Given the description of an element on the screen output the (x, y) to click on. 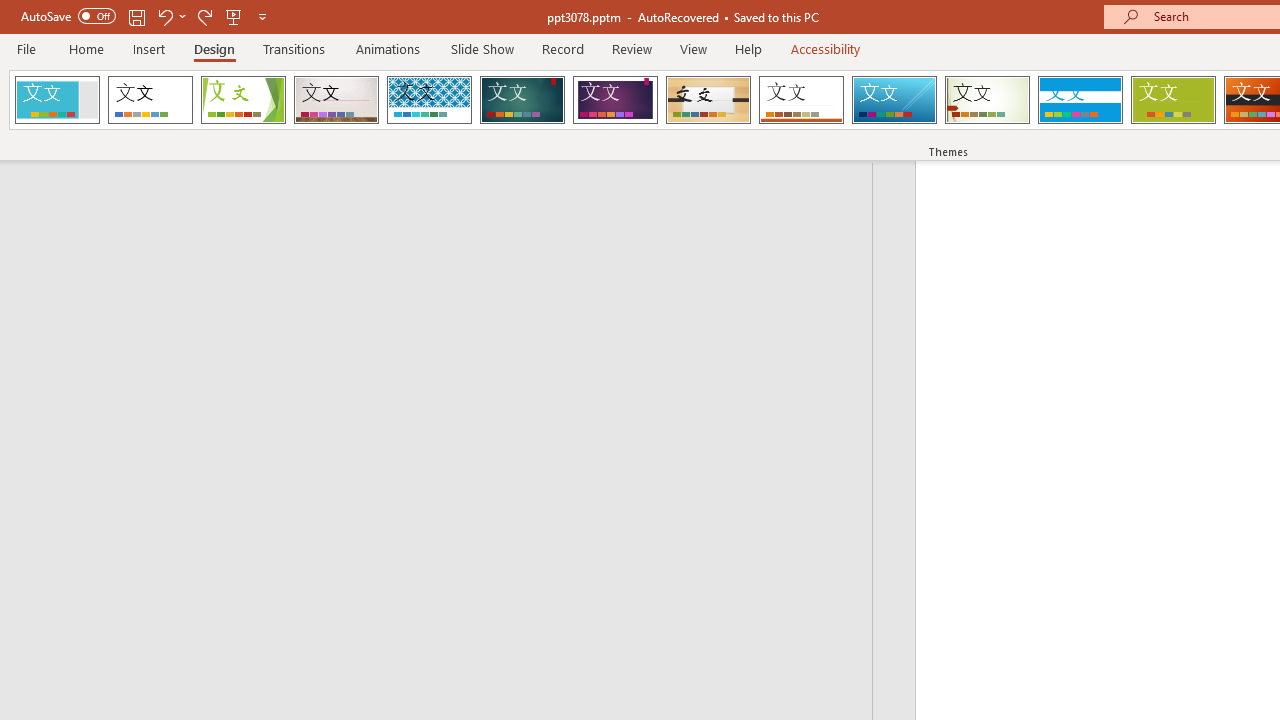
Retrospect (801, 100)
Ion Boardroom (615, 100)
Slice (893, 100)
Office Theme (150, 100)
Banded (1080, 100)
Integral (429, 100)
